Given the description of an element on the screen output the (x, y) to click on. 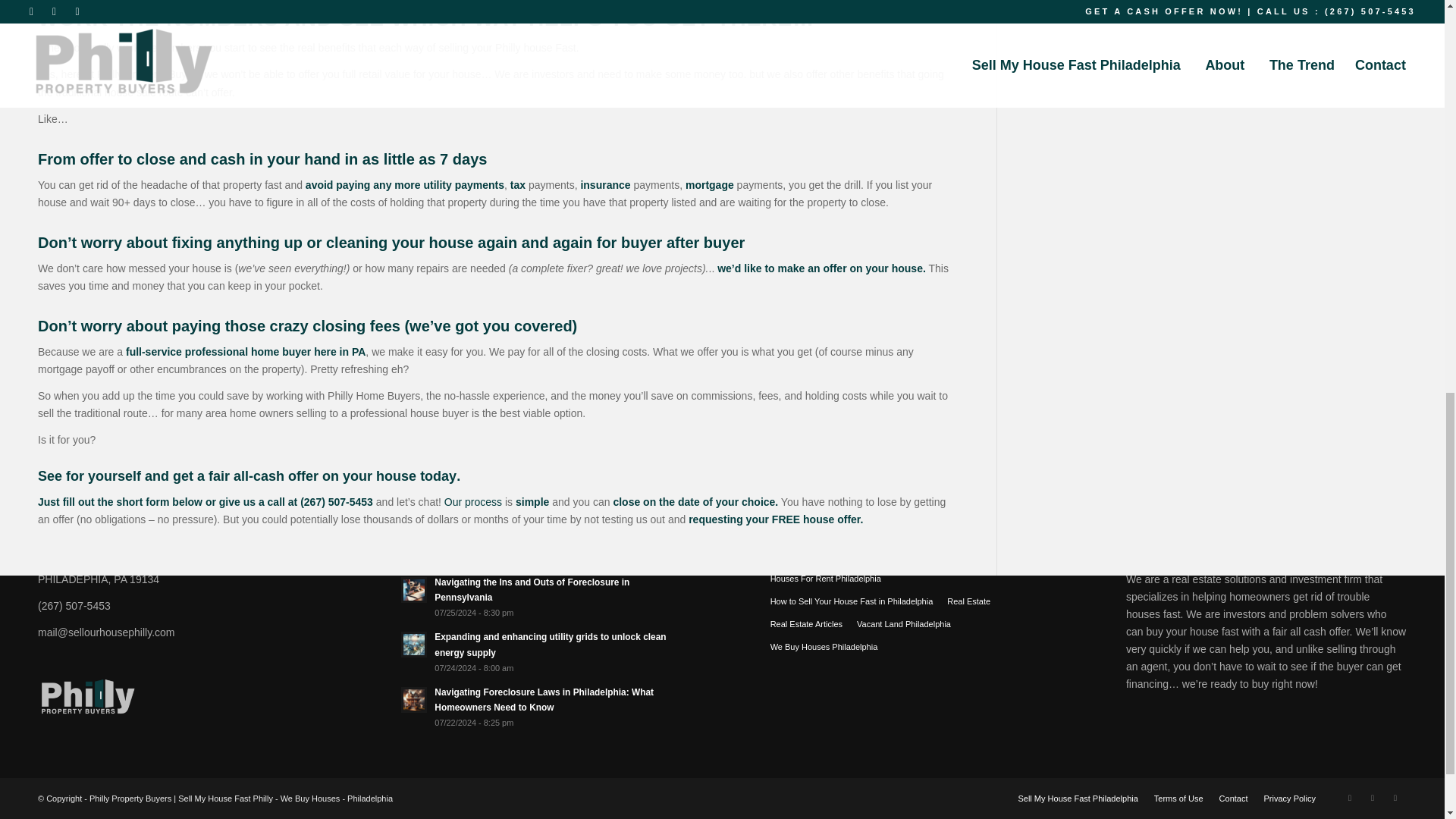
Our process (473, 501)
